Given the description of an element on the screen output the (x, y) to click on. 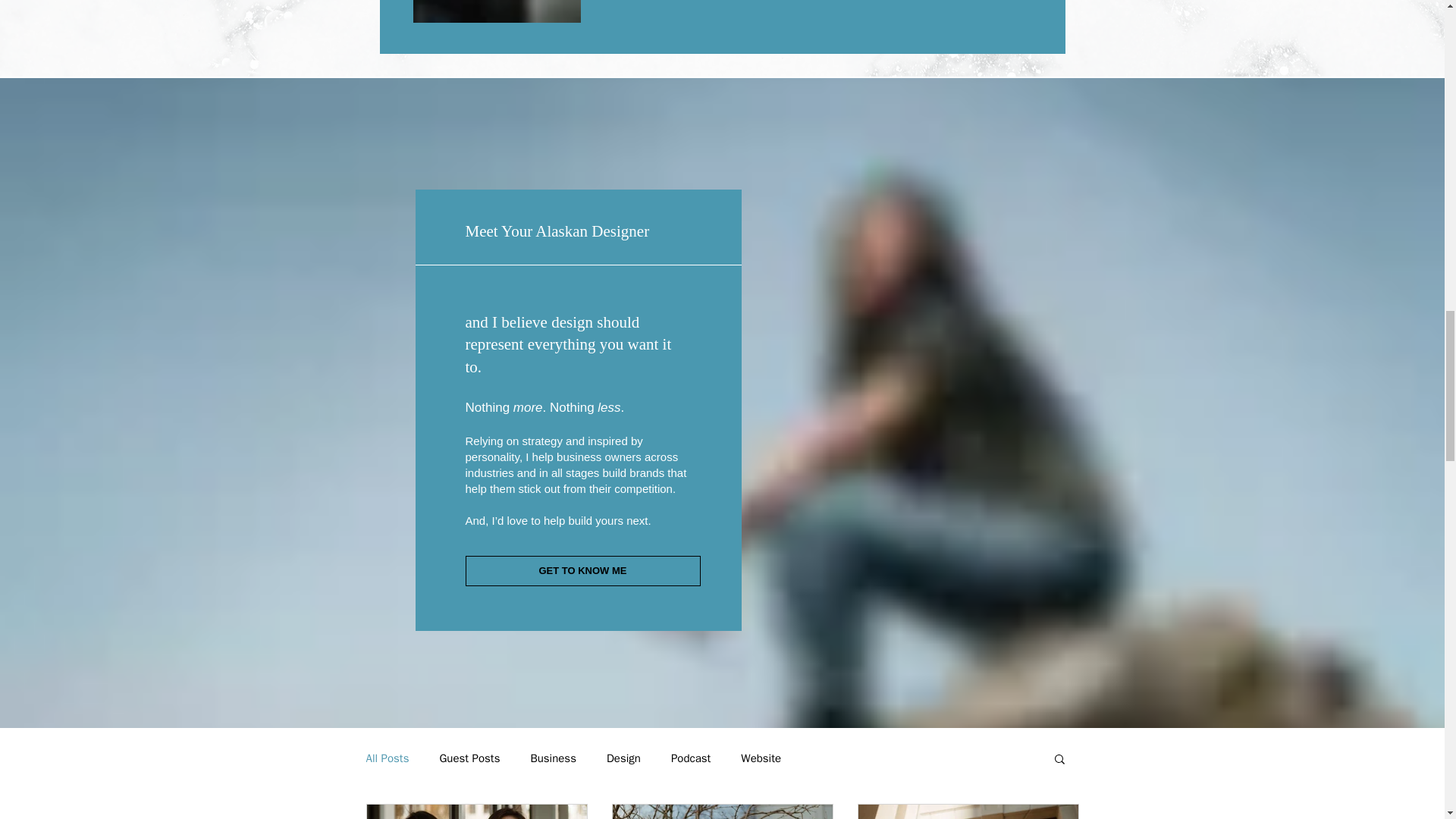
GET TO KNOW ME (582, 571)
Guest Posts (469, 758)
Business (552, 758)
Podcast (690, 758)
Design (623, 758)
All Posts (387, 758)
Website (760, 758)
